Given the description of an element on the screen output the (x, y) to click on. 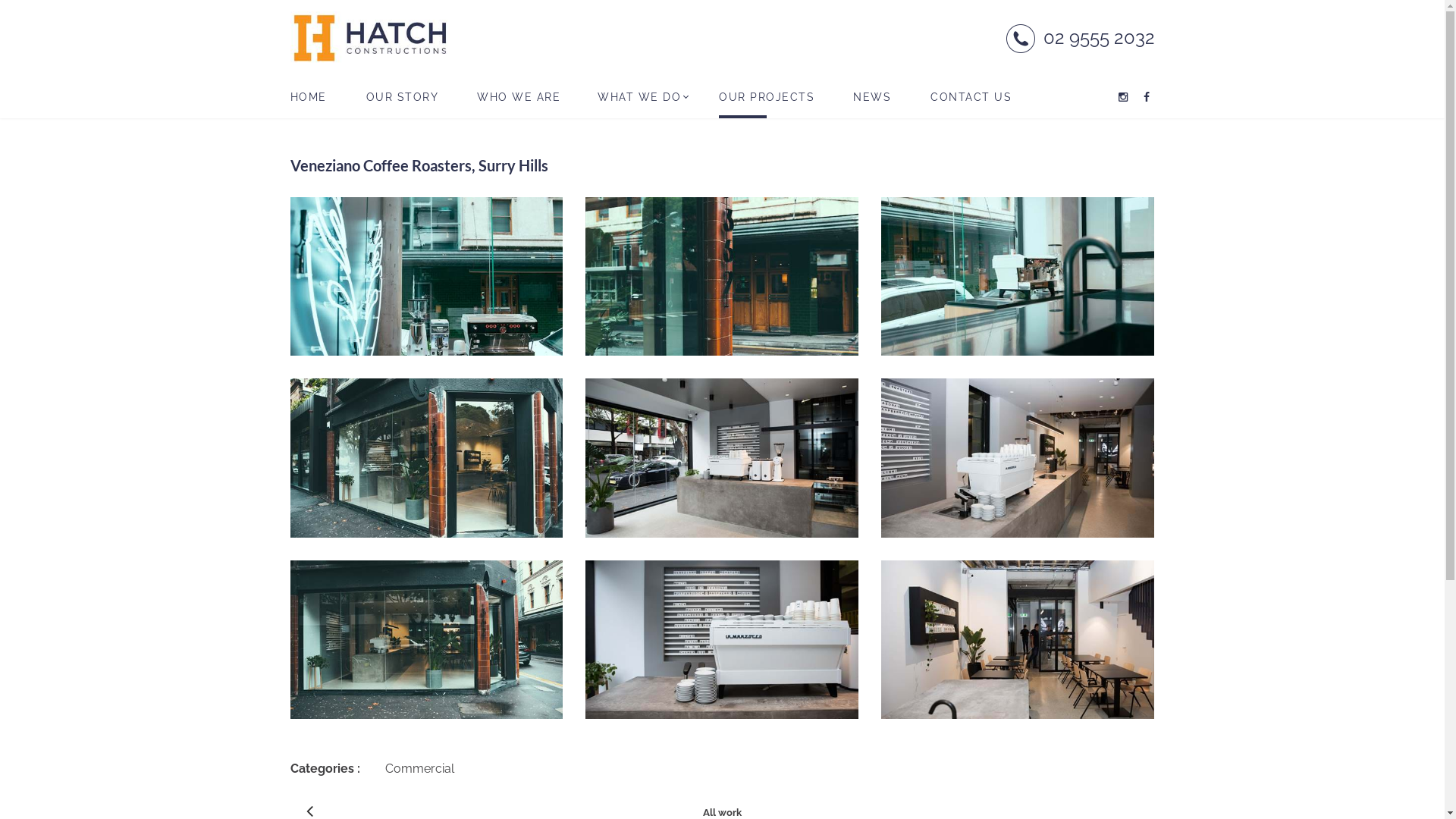
NEWS Element type: text (872, 96)
02 9555 2032 Element type: text (1079, 37)
HOME Element type: text (307, 96)
WHO WE ARE Element type: text (517, 96)
WHAT WE DO Element type: text (638, 96)
CONTACT US Element type: text (970, 96)
OUR PROJECTS Element type: text (765, 96)
OUR STORY Element type: text (401, 96)
